Given the description of an element on the screen output the (x, y) to click on. 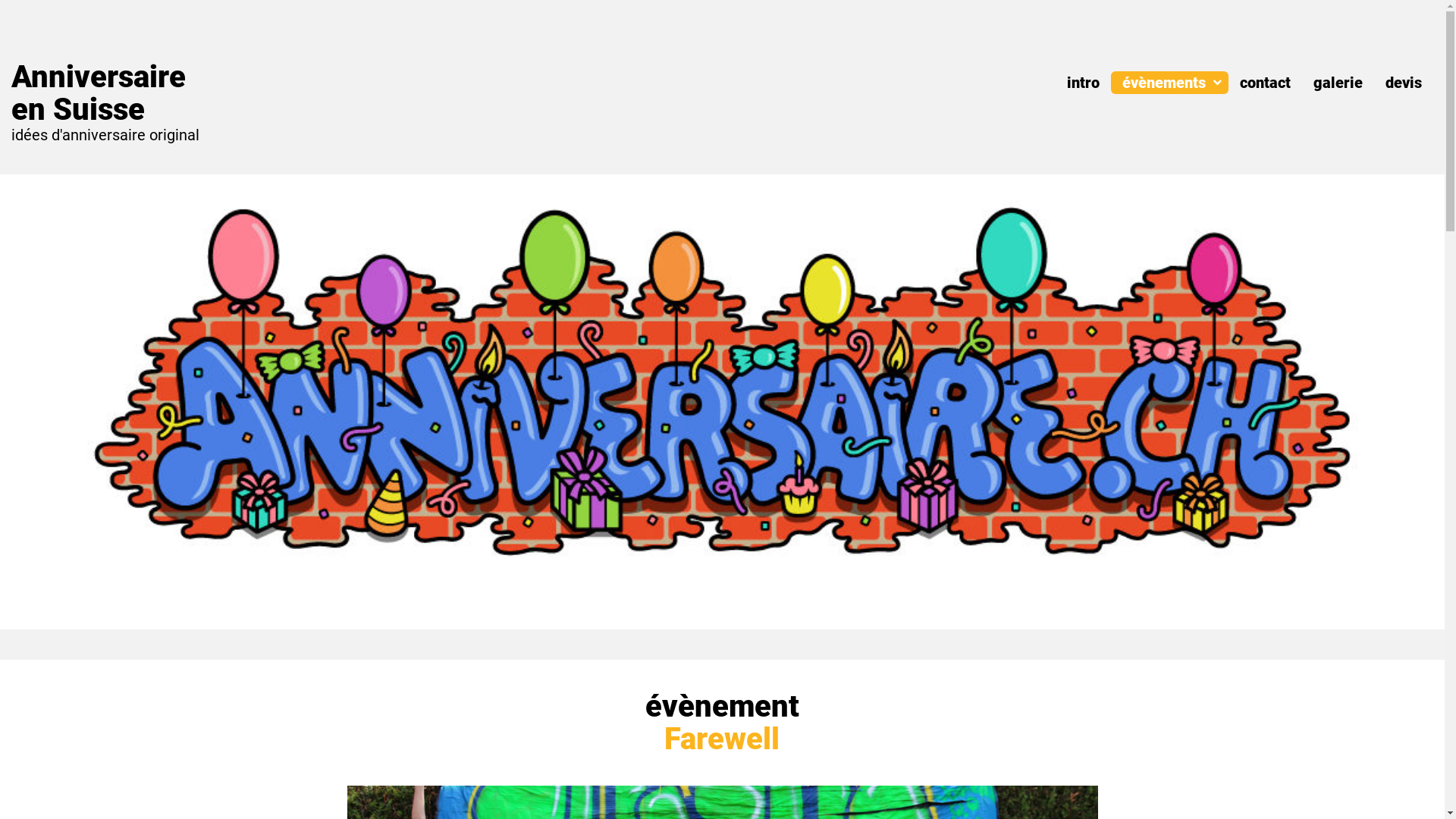
Anniversaire en Suisse Element type: text (98, 93)
contact Element type: text (1264, 82)
intro Element type: text (1082, 82)
devis Element type: text (1403, 82)
galerie Element type: text (1337, 82)
